Given the description of an element on the screen output the (x, y) to click on. 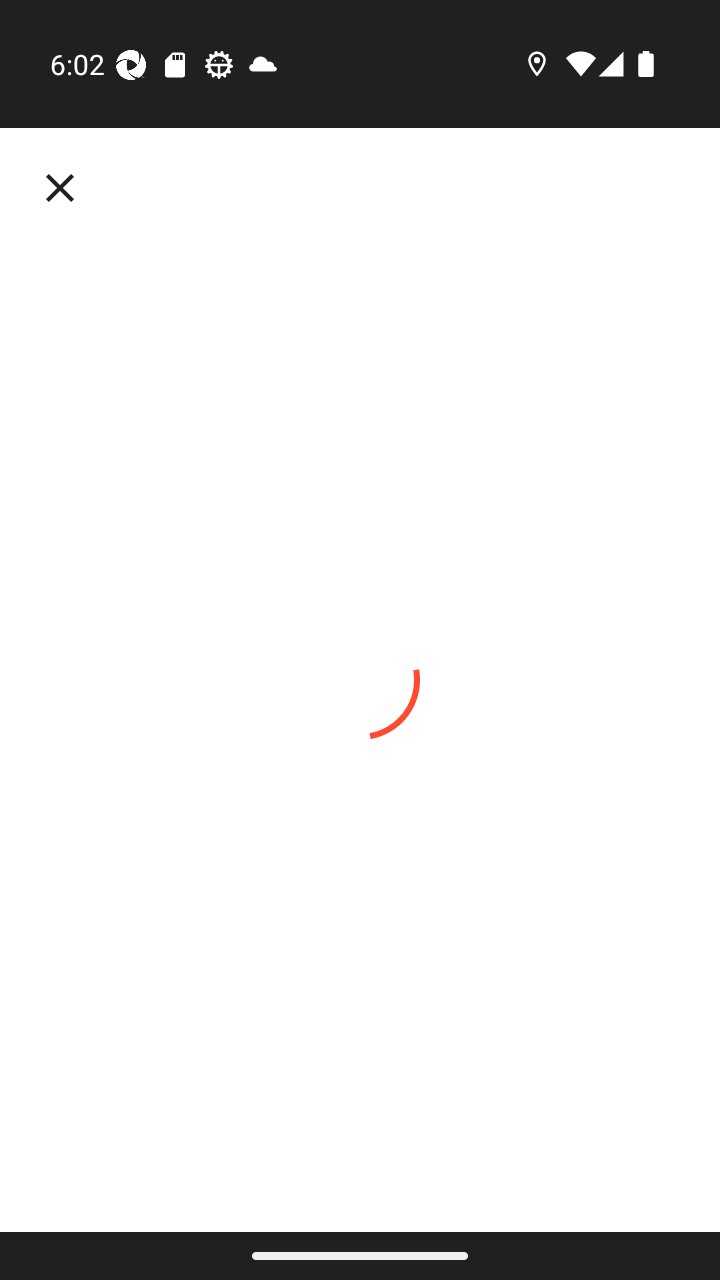
Menu Menu Menu (64, 188)
